Given the description of an element on the screen output the (x, y) to click on. 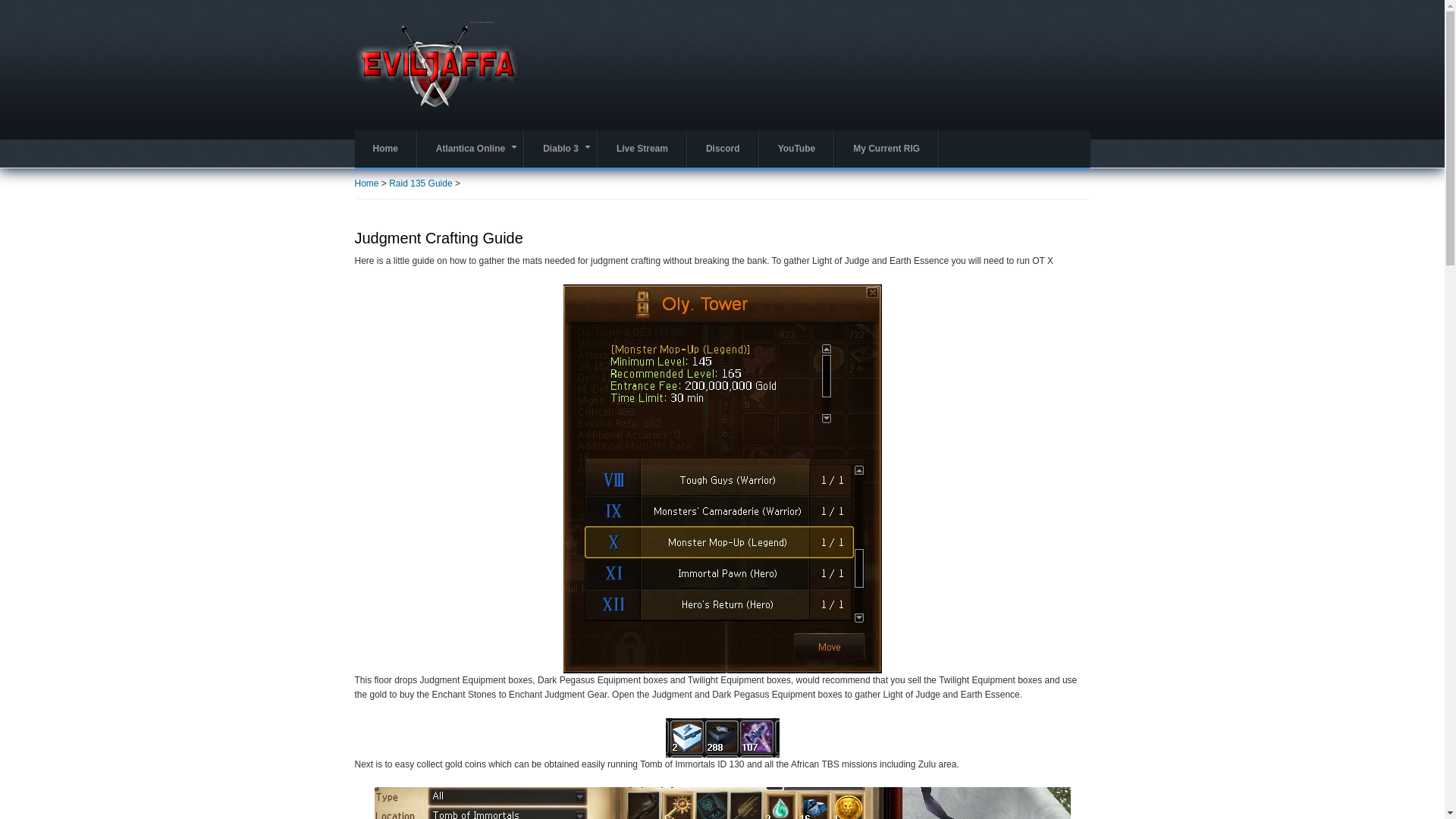
Home (436, 63)
Home (385, 148)
